Given the description of an element on the screen output the (x, y) to click on. 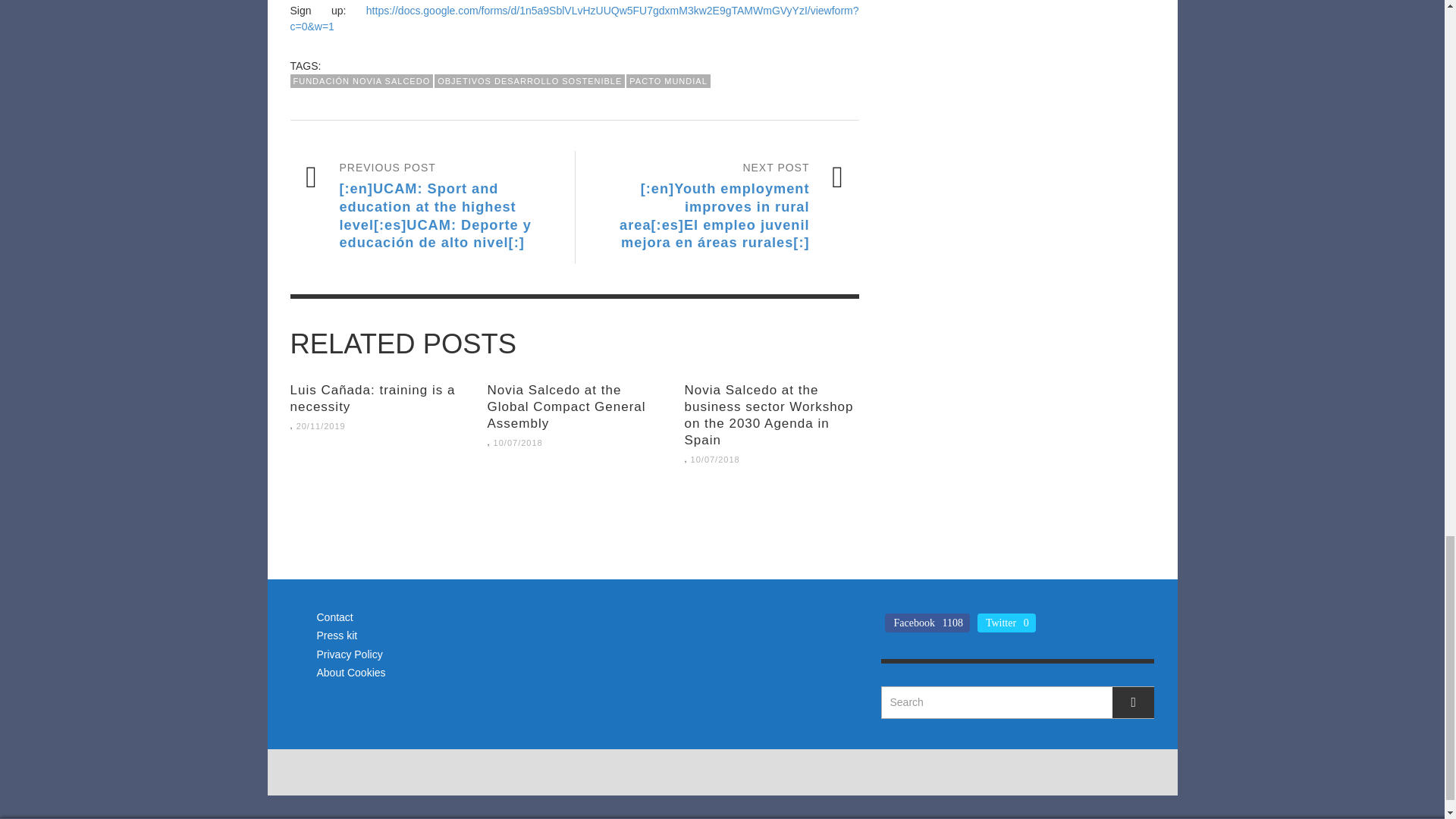
Search (1017, 702)
